Given the description of an element on the screen output the (x, y) to click on. 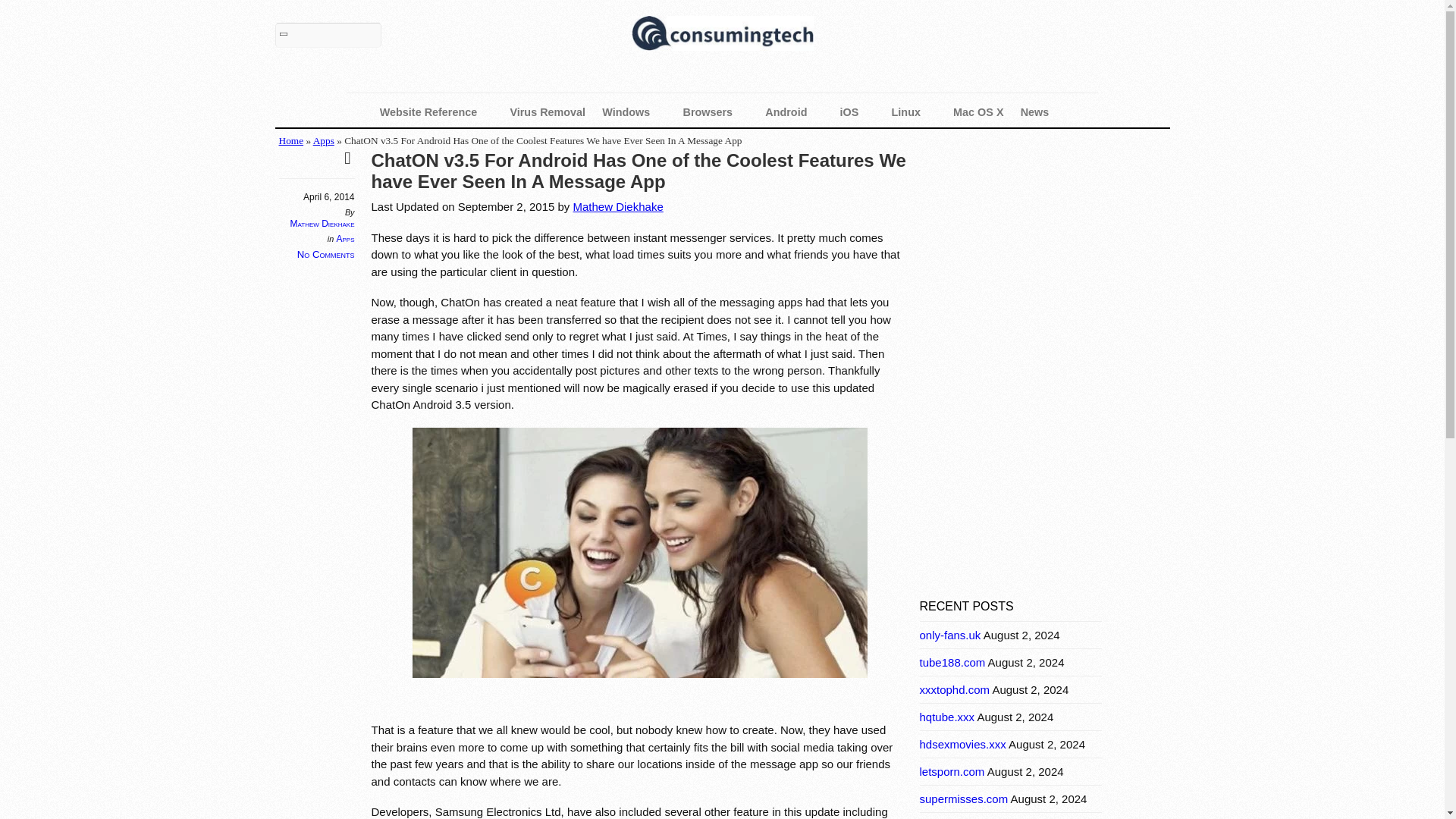
Apps (323, 140)
News (1042, 112)
Windows (633, 112)
Linux (914, 112)
No Comments (326, 254)
Search (327, 34)
Virus Removal (547, 112)
Apps (344, 238)
Website Reference (436, 112)
Advertisement (1032, 476)
